Given the description of an element on the screen output the (x, y) to click on. 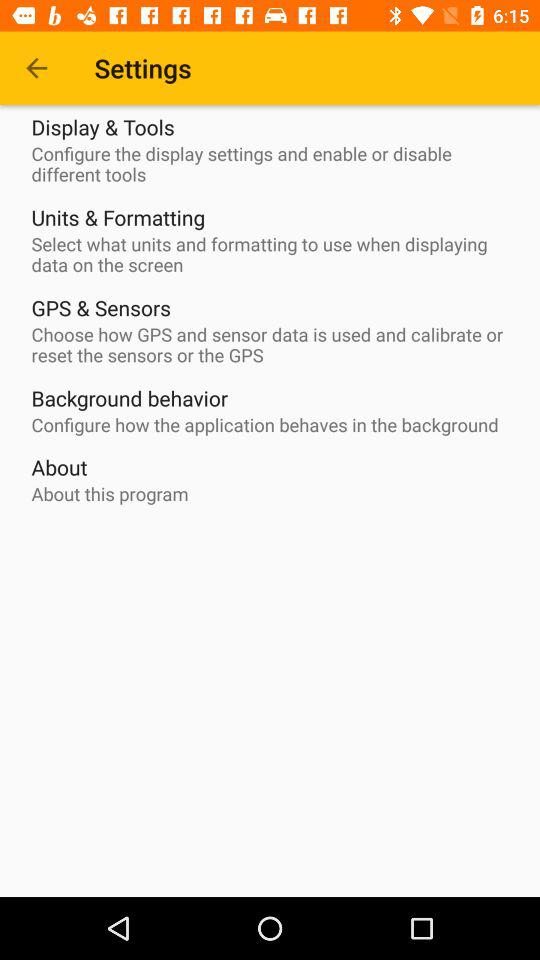
select the choose how gps icon (275, 345)
